Given the description of an element on the screen output the (x, y) to click on. 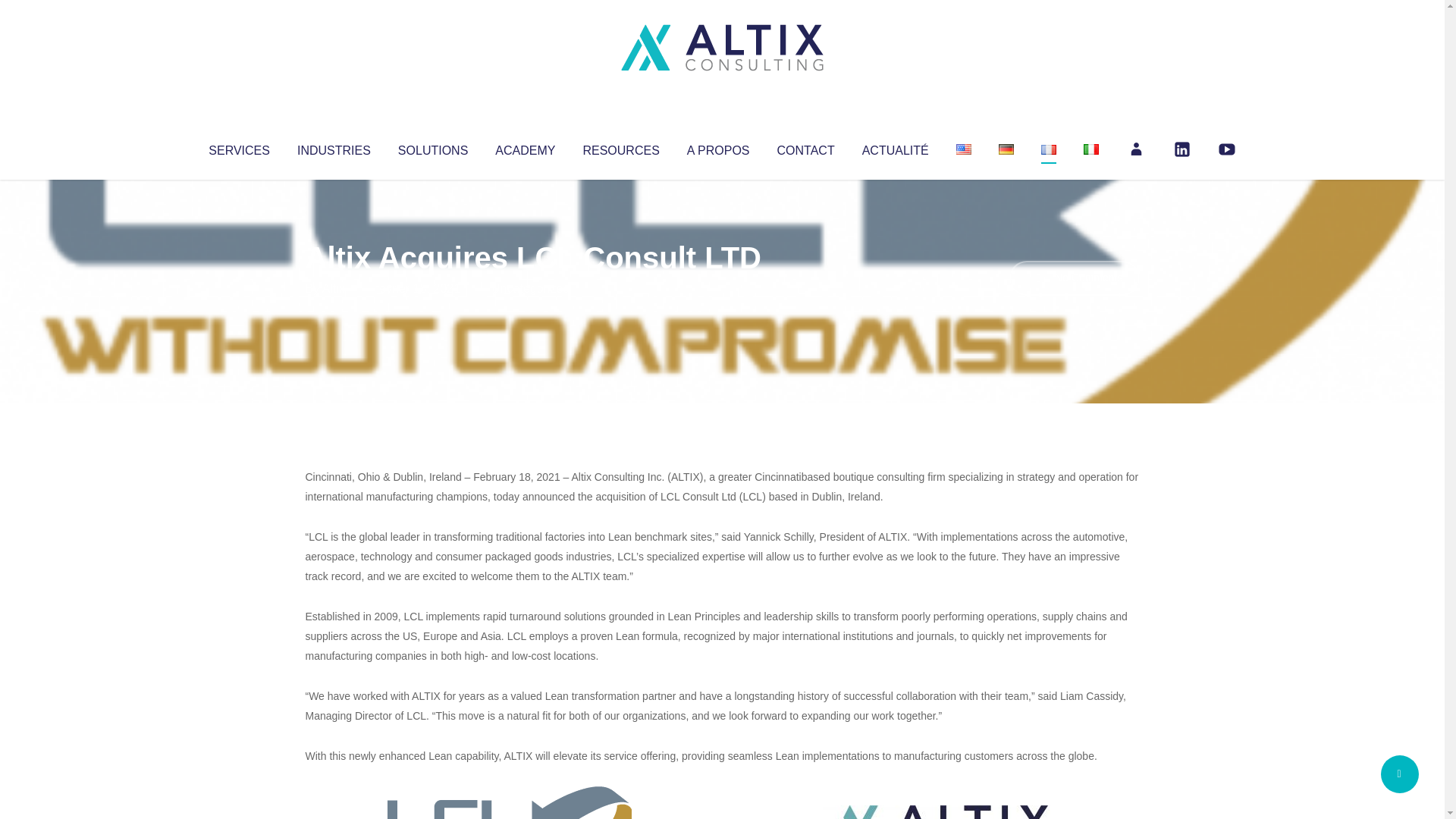
Uncategorized (530, 287)
RESOURCES (620, 146)
SERVICES (238, 146)
Articles par Altix (333, 287)
Altix (333, 287)
SOLUTIONS (432, 146)
INDUSTRIES (334, 146)
No Comments (1073, 278)
ACADEMY (524, 146)
A PROPOS (718, 146)
